Given the description of an element on the screen output the (x, y) to click on. 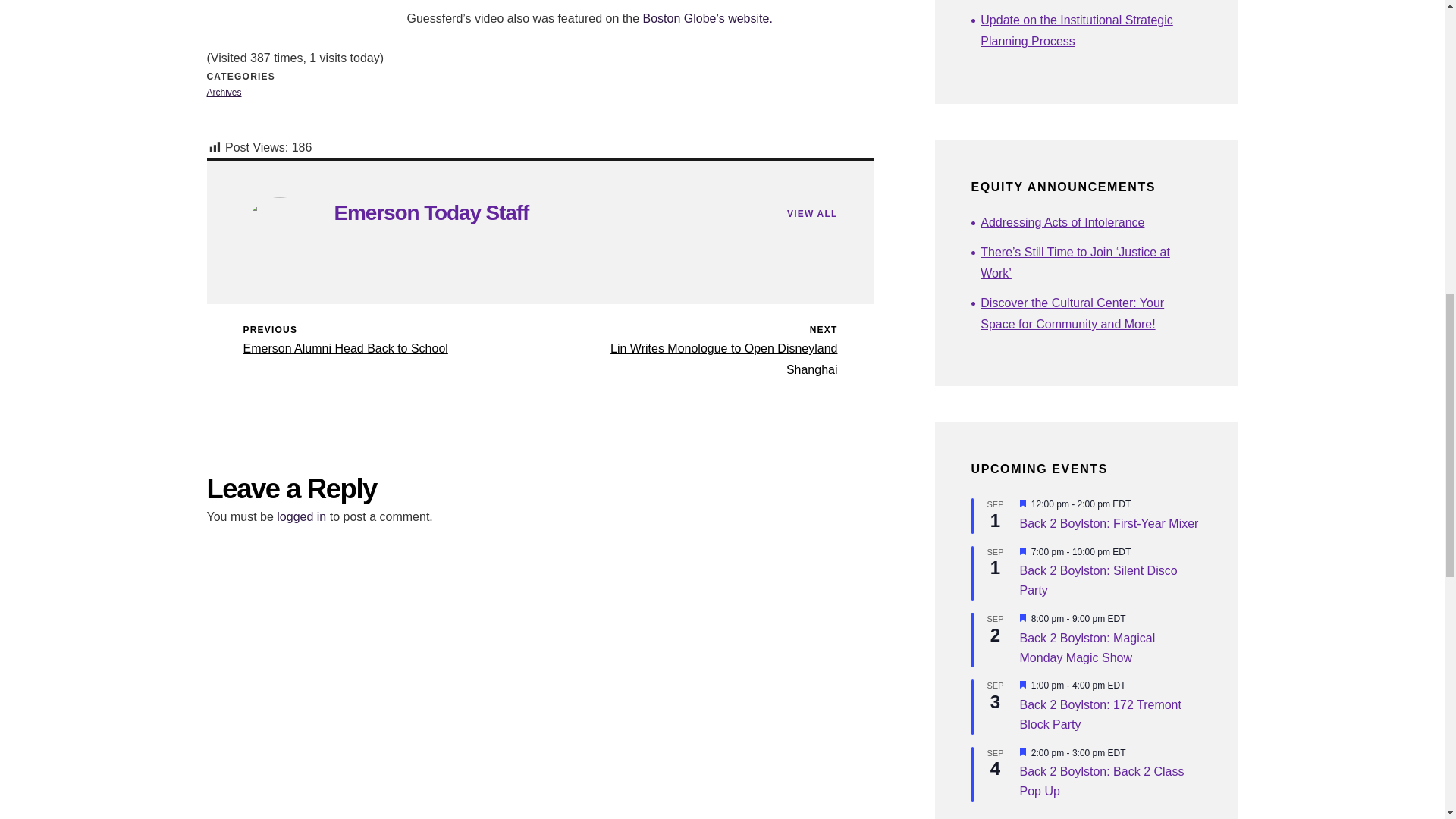
Back 2 Boylston: First-Year Mixer (430, 212)
Archives (1108, 523)
Video: Two Reminders from President Bernhardt (223, 91)
Back 2 Boylston: 172 Tremont Block Party (373, 340)
Back 2 Boylston: Magical Monday Magic Show (1099, 715)
Back 2 Boylston: Silent Disco Party (1101, 781)
